Given the description of an element on the screen output the (x, y) to click on. 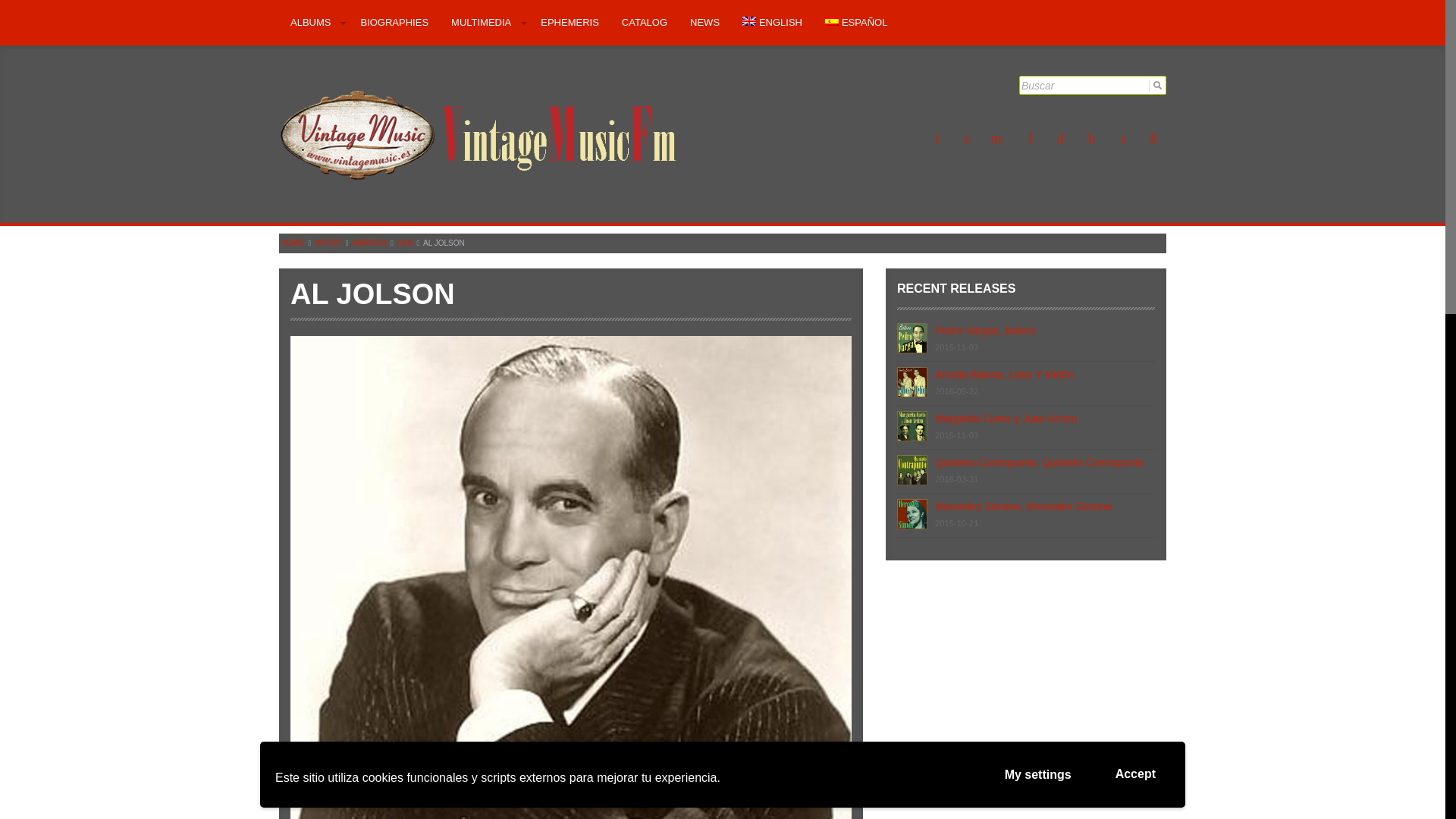
BIOGRAPHIES (394, 22)
EPHEMERIS (569, 22)
My settings (1038, 774)
ARTIST (327, 243)
Go to the USA Genres archives. (404, 243)
Accept (1135, 774)
NEWS (704, 22)
ENGLISH (771, 22)
Go to Home. (292, 243)
Go to artist. (327, 243)
English (771, 22)
Buscar (1094, 85)
HOME (292, 243)
ALBUMS (314, 22)
CATALOG (644, 22)
